Given the description of an element on the screen output the (x, y) to click on. 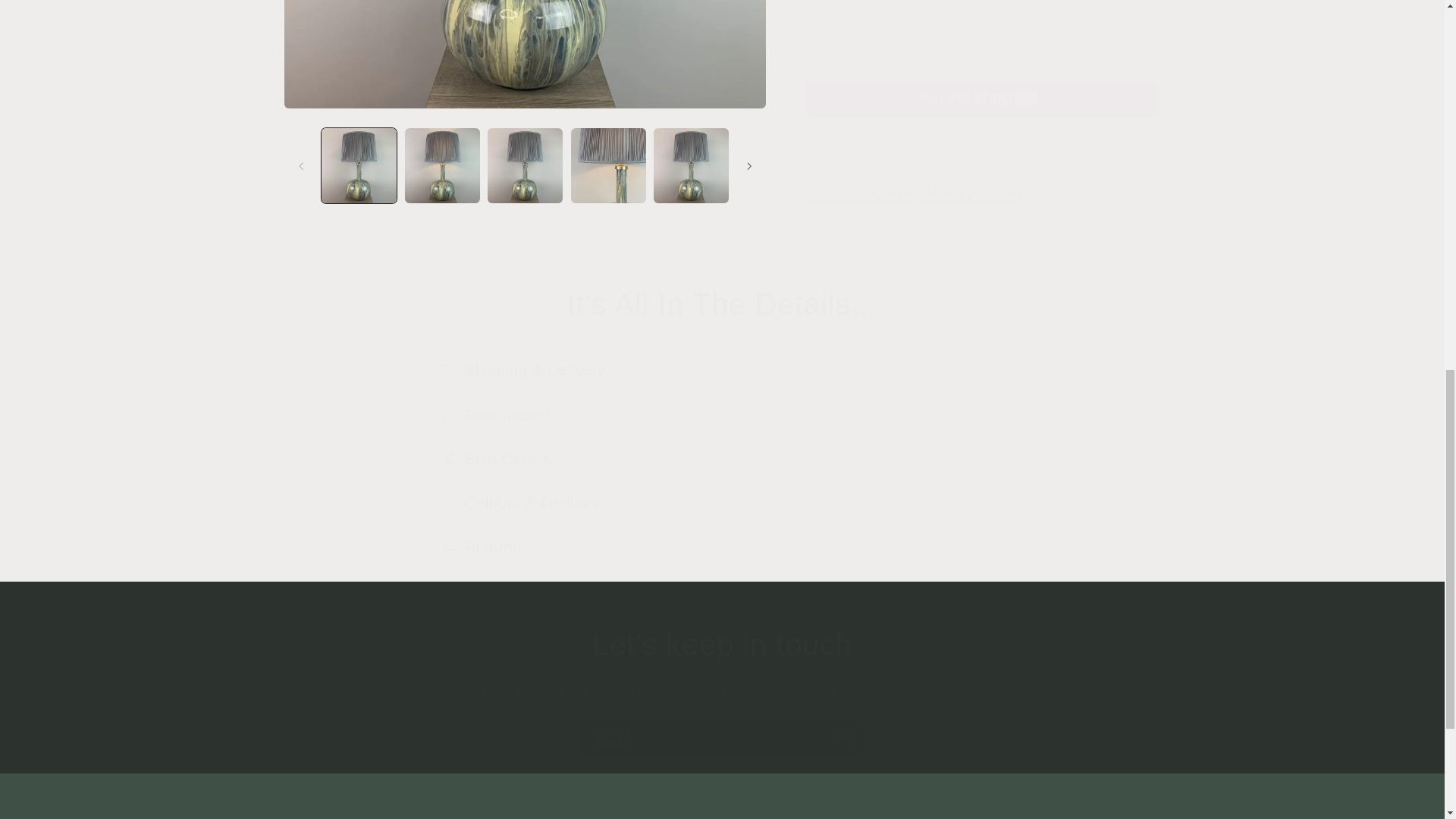
Email (722, 736)
It's All In The Details... (722, 303)
Let's keep in touch (722, 644)
